Given the description of an element on the screen output the (x, y) to click on. 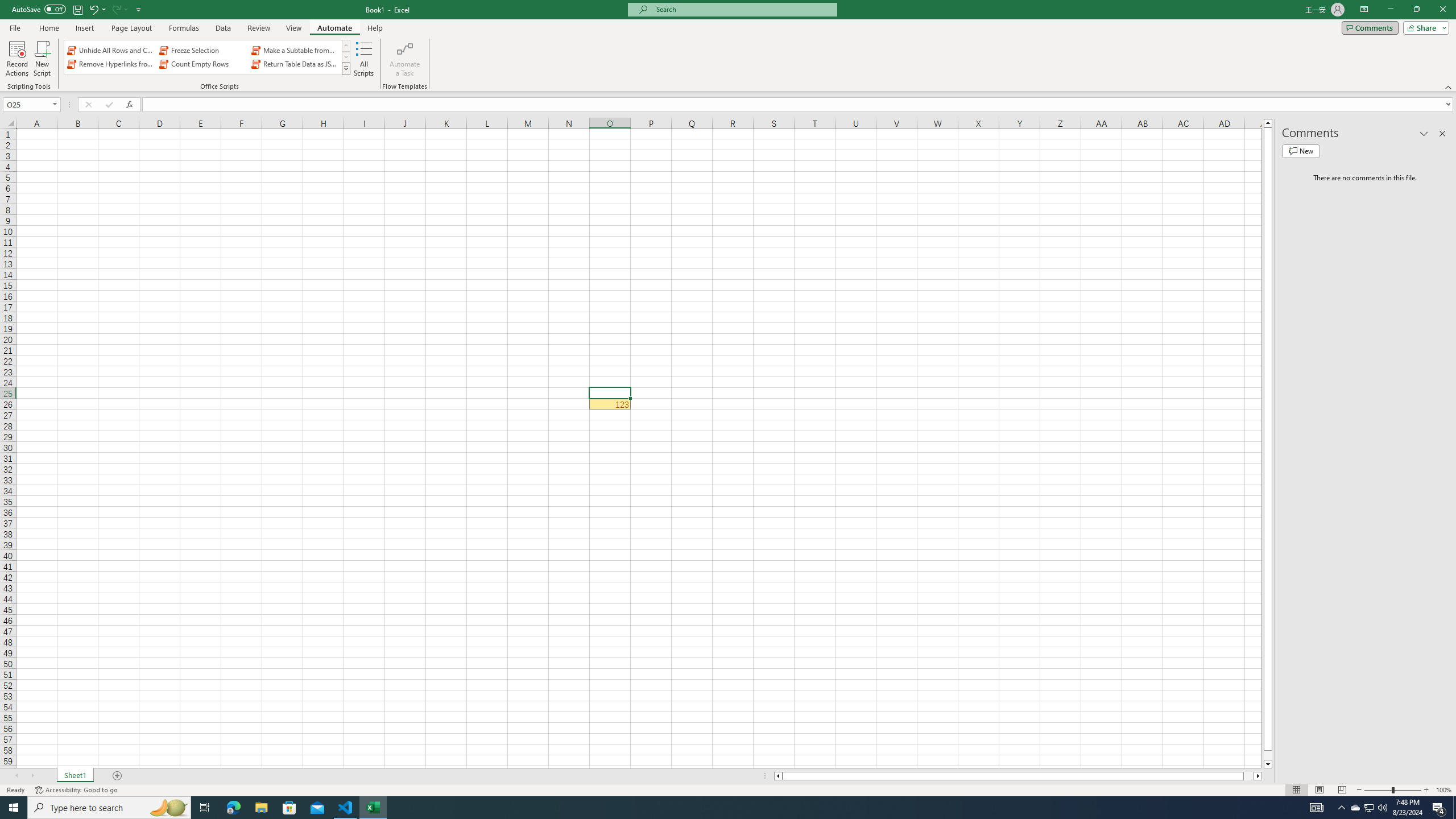
Make a Subtable from a Selection (294, 50)
Office Scripts (346, 68)
